Given the description of an element on the screen output the (x, y) to click on. 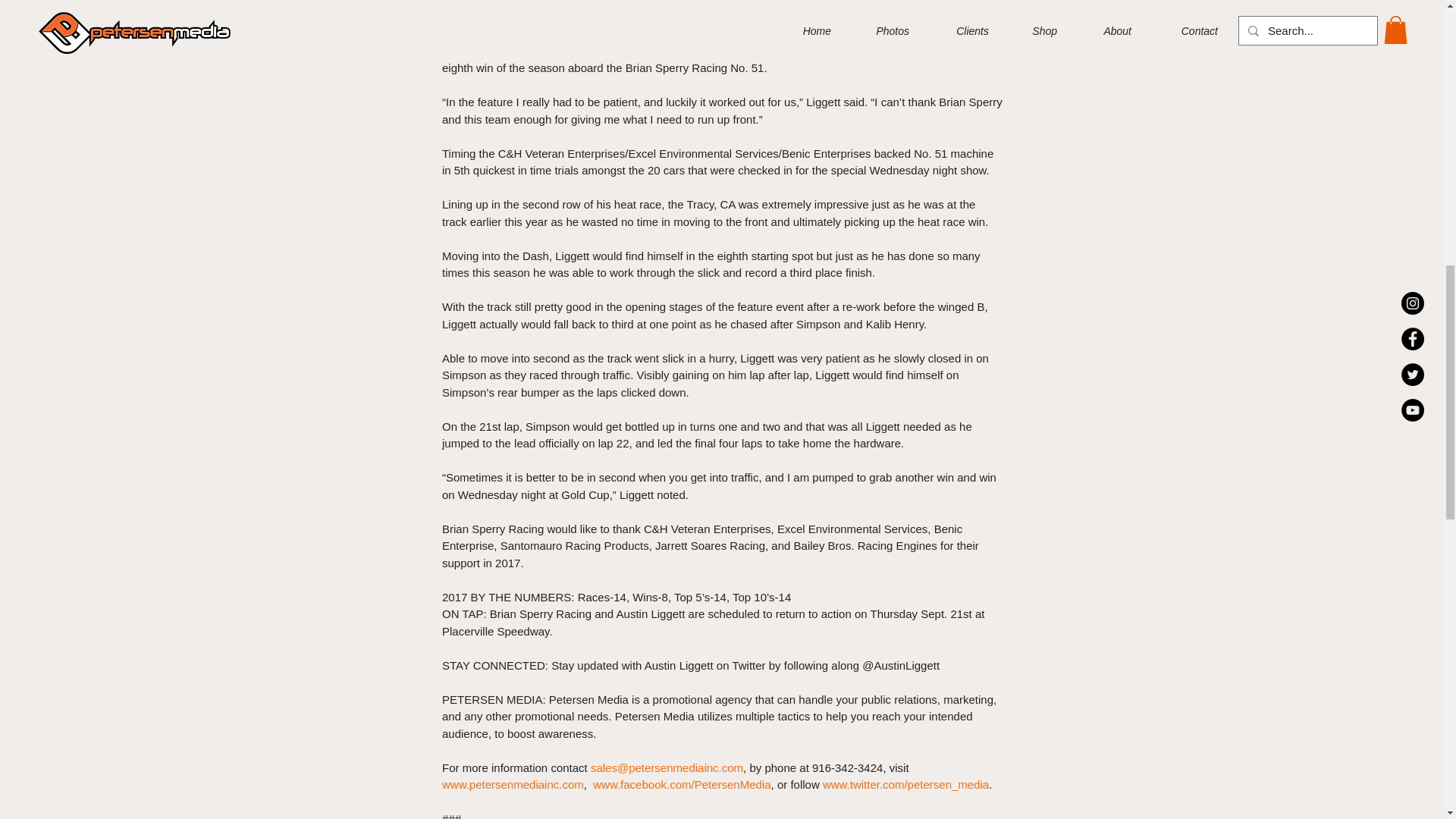
www.petersenmediainc.com (512, 784)
